Given the description of an element on the screen output the (x, y) to click on. 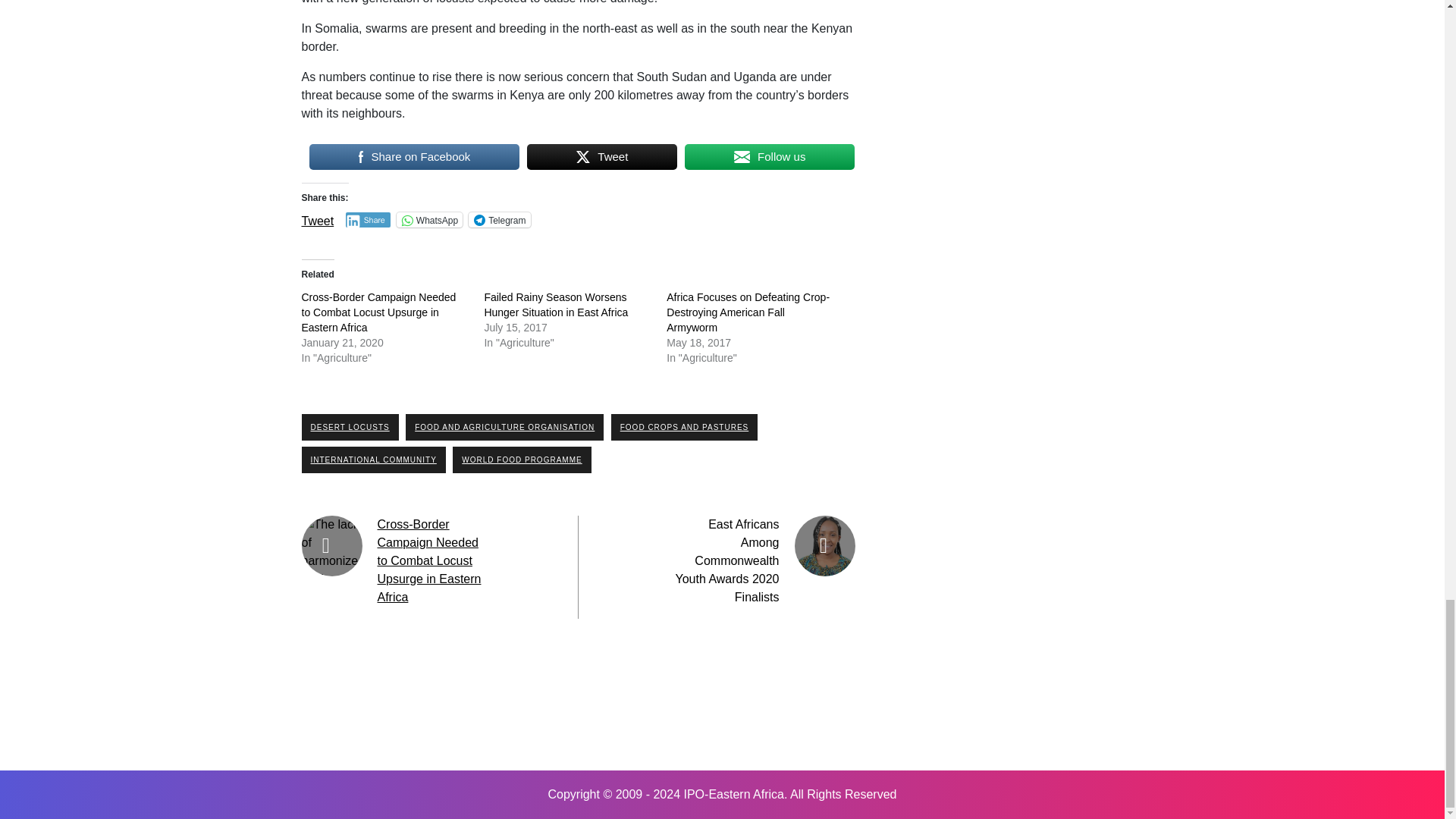
Telegram (498, 219)
WhatsApp (429, 219)
Failed Rainy Season Worsens Hunger Situation in East Africa (555, 304)
Share (368, 219)
Click to share on Telegram (498, 219)
Follow us (769, 156)
Failed Rainy Season Worsens Hunger Situation in East Africa (555, 304)
Share on Facebook (413, 156)
Tweet (317, 219)
FOOD CROPS AND PASTURES (684, 427)
Tweet (602, 156)
Click to share on WhatsApp (429, 219)
